Given the description of an element on the screen output the (x, y) to click on. 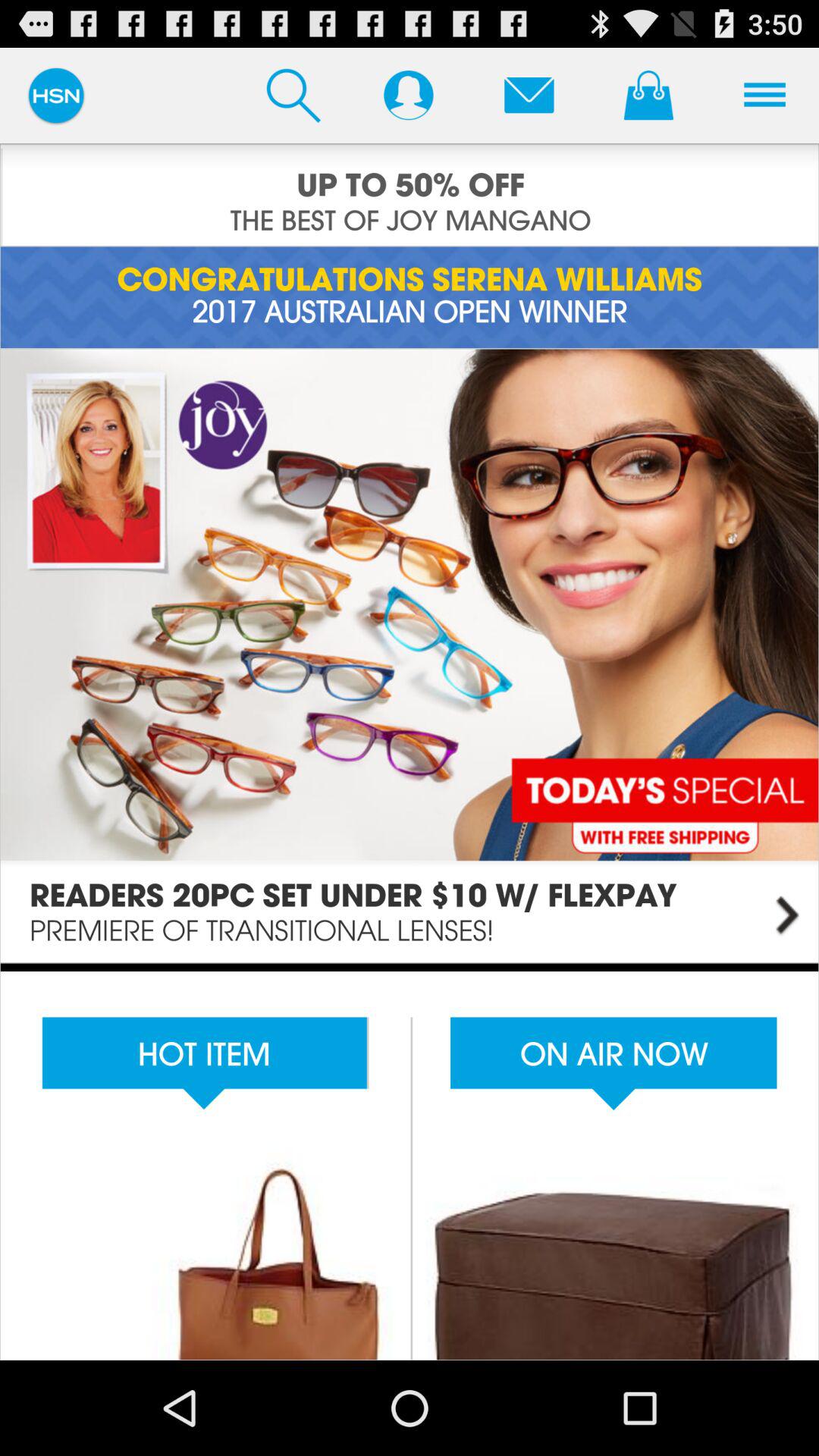
view your profile (408, 95)
